Given the description of an element on the screen output the (x, y) to click on. 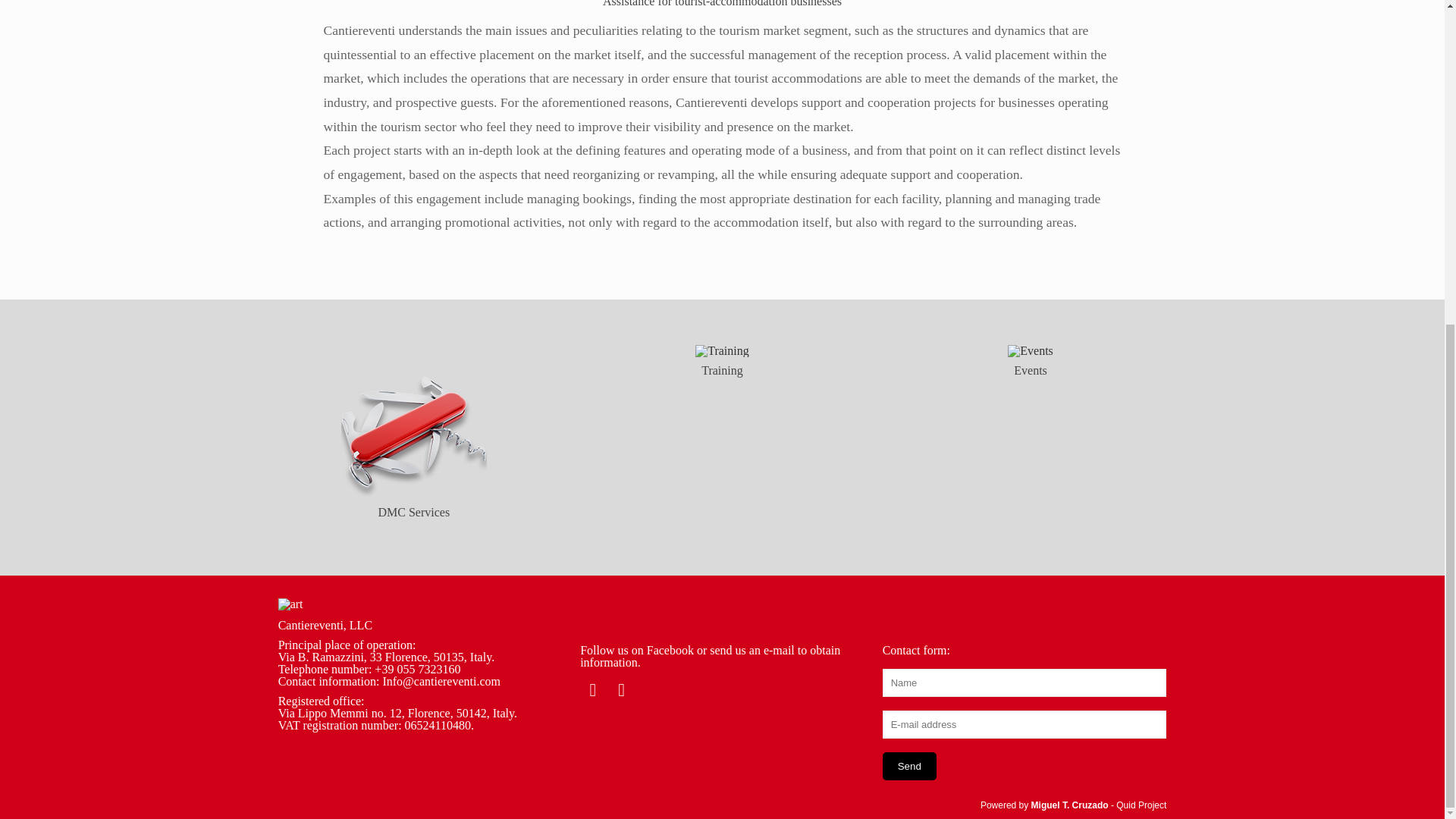
Miguel T. Cruzado (1069, 804)
Send (909, 766)
Cantiereventi (290, 608)
DMC Services (414, 505)
Events (1029, 350)
Send (909, 766)
Training (722, 350)
Events (1029, 359)
DMC Services (413, 420)
Training (721, 359)
